Given the description of an element on the screen output the (x, y) to click on. 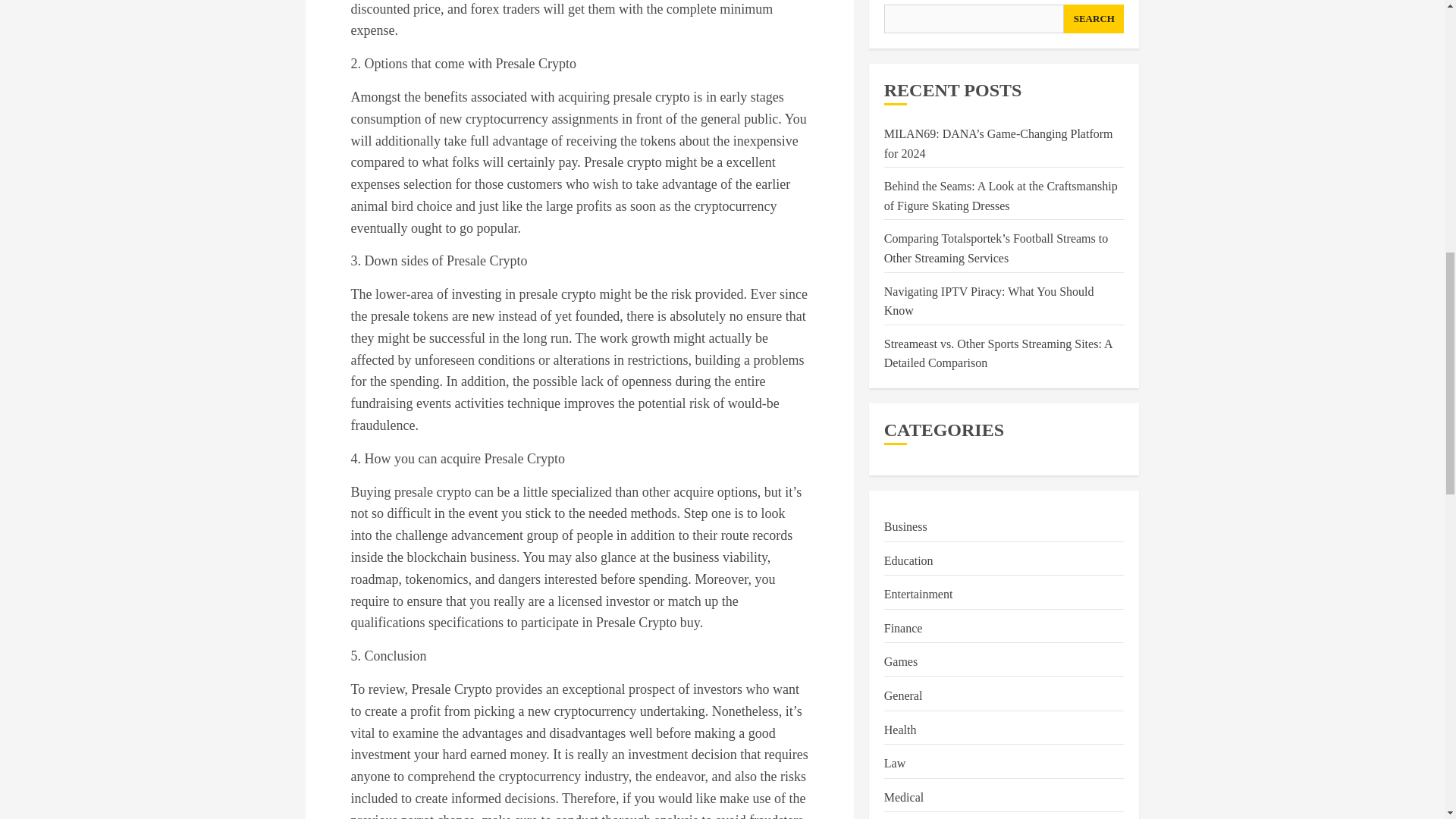
Health (900, 214)
Education (908, 46)
Entertainment (918, 78)
Games (900, 146)
Law (894, 248)
Finance (903, 113)
Business (905, 11)
General (903, 180)
